Given the description of an element on the screen output the (x, y) to click on. 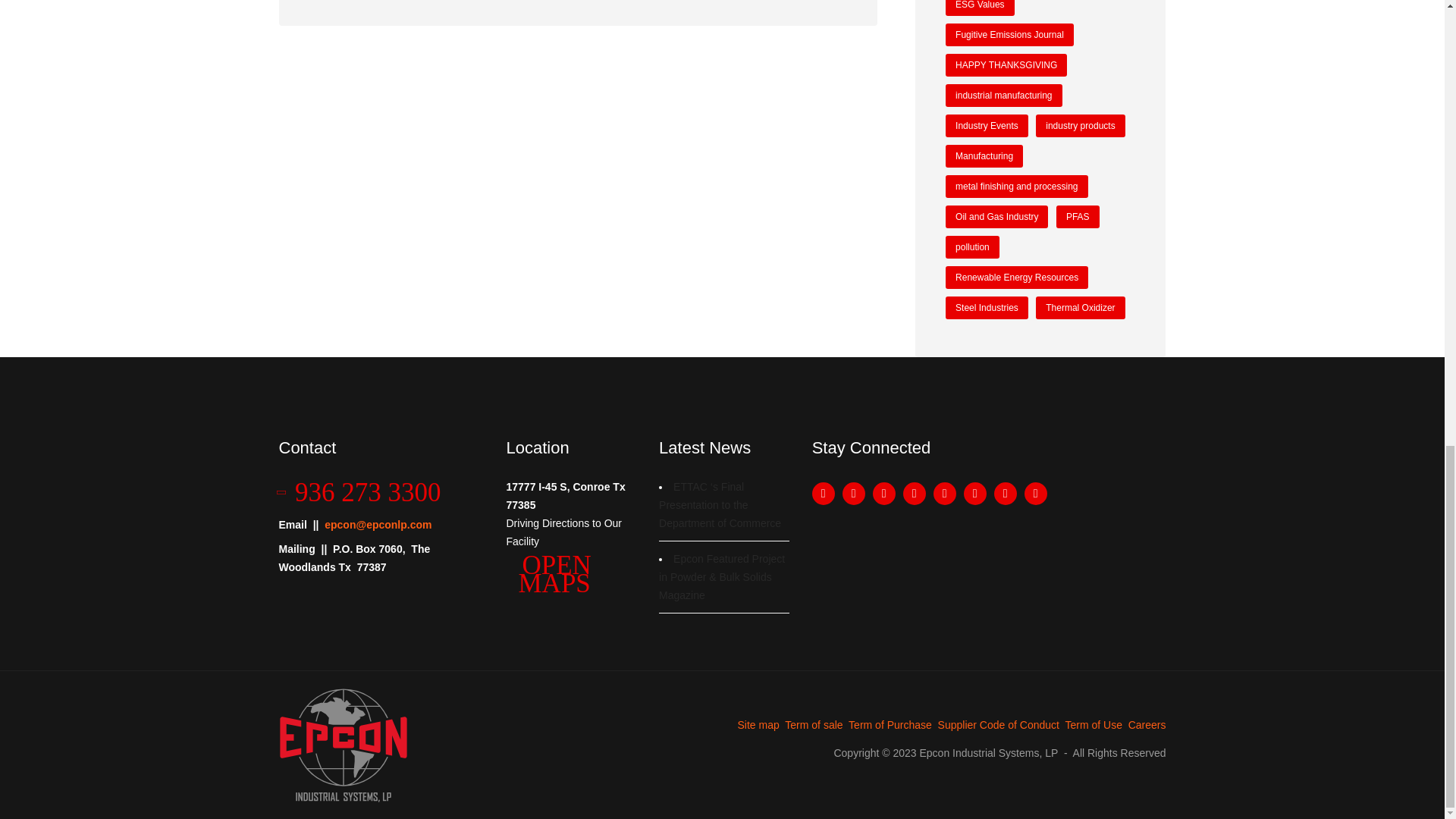
Custom Industrial Supplier (343, 743)
